Given the description of an element on the screen output the (x, y) to click on. 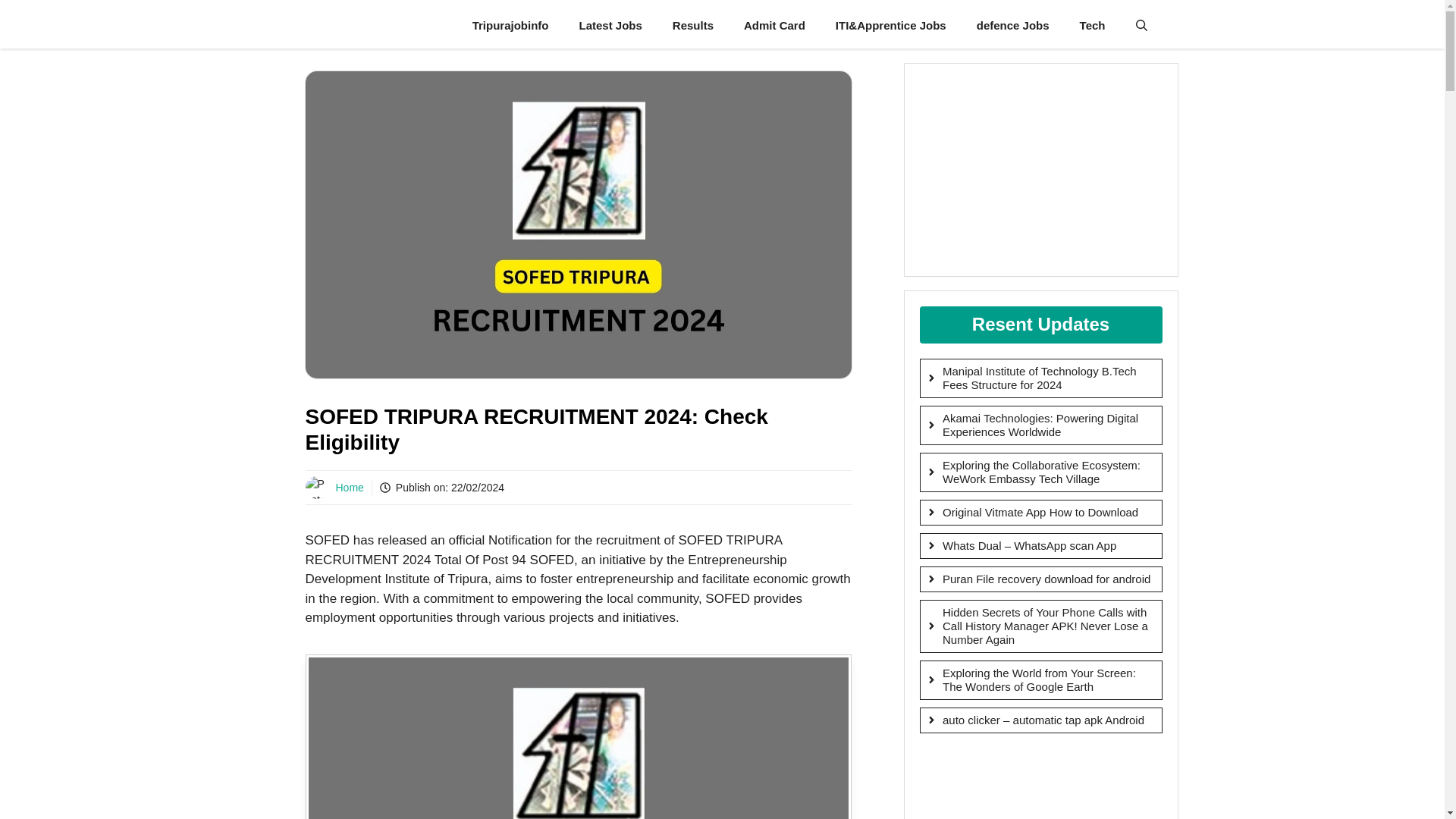
Latest Jobs (609, 25)
Advertisement (1040, 169)
Advertisement (1036, 783)
Home (348, 487)
Akamai Technologies: Powering Digital Experiences Worldwide (1040, 424)
Admit Card (775, 25)
Tech (1092, 25)
Results (693, 25)
defence Jobs (1012, 25)
Tripurajobinfo (510, 25)
